Given the description of an element on the screen output the (x, y) to click on. 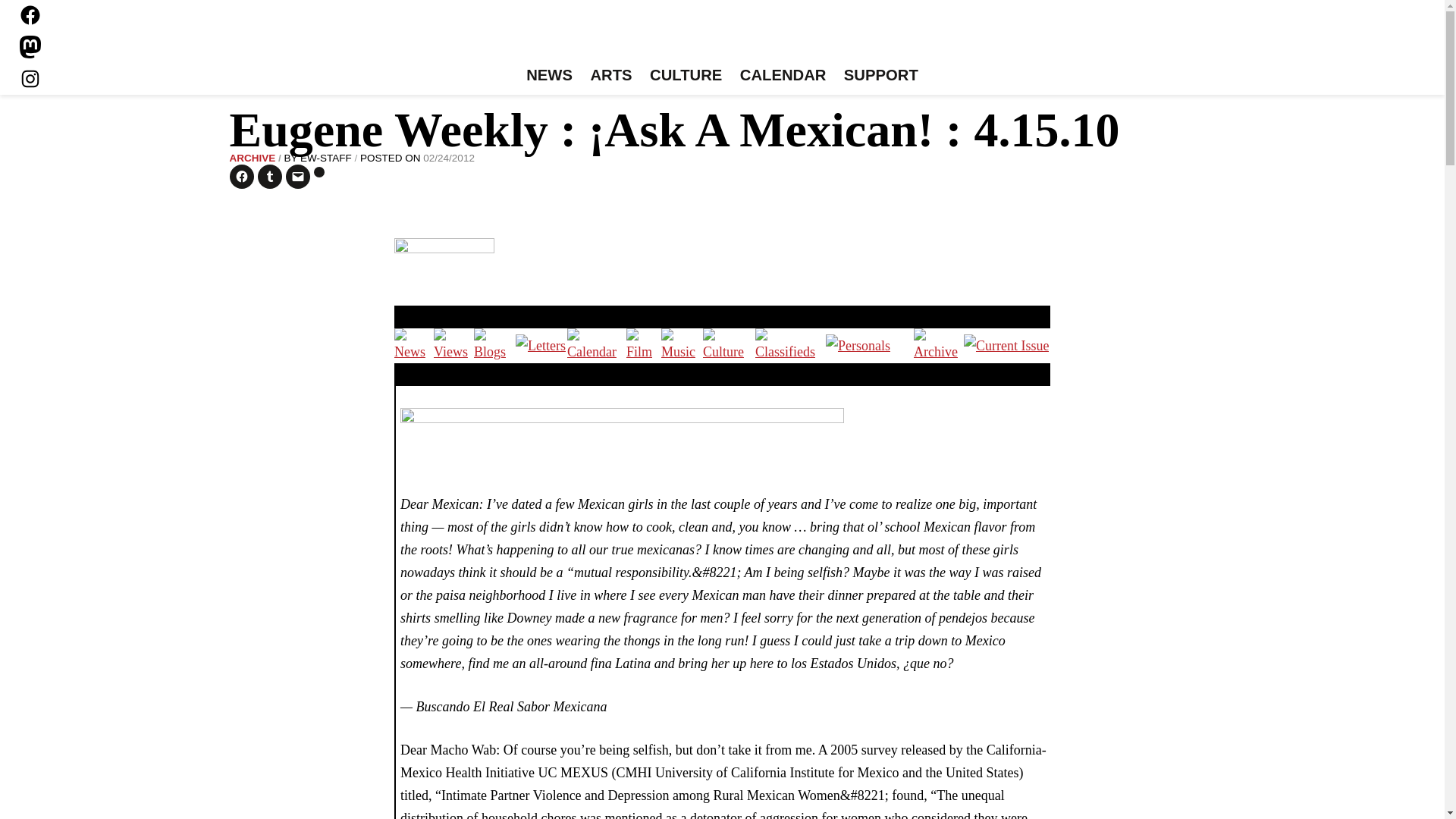
Click to email a link to a friend (296, 176)
CULTURE (685, 75)
Eugene Weekly (721, 37)
Facebook (30, 15)
Mastodon (30, 47)
ARTS (611, 75)
SUPPORT (880, 75)
Click to share on Facebook (240, 176)
CALENDAR (782, 75)
NEWS (548, 75)
